Given the description of an element on the screen output the (x, y) to click on. 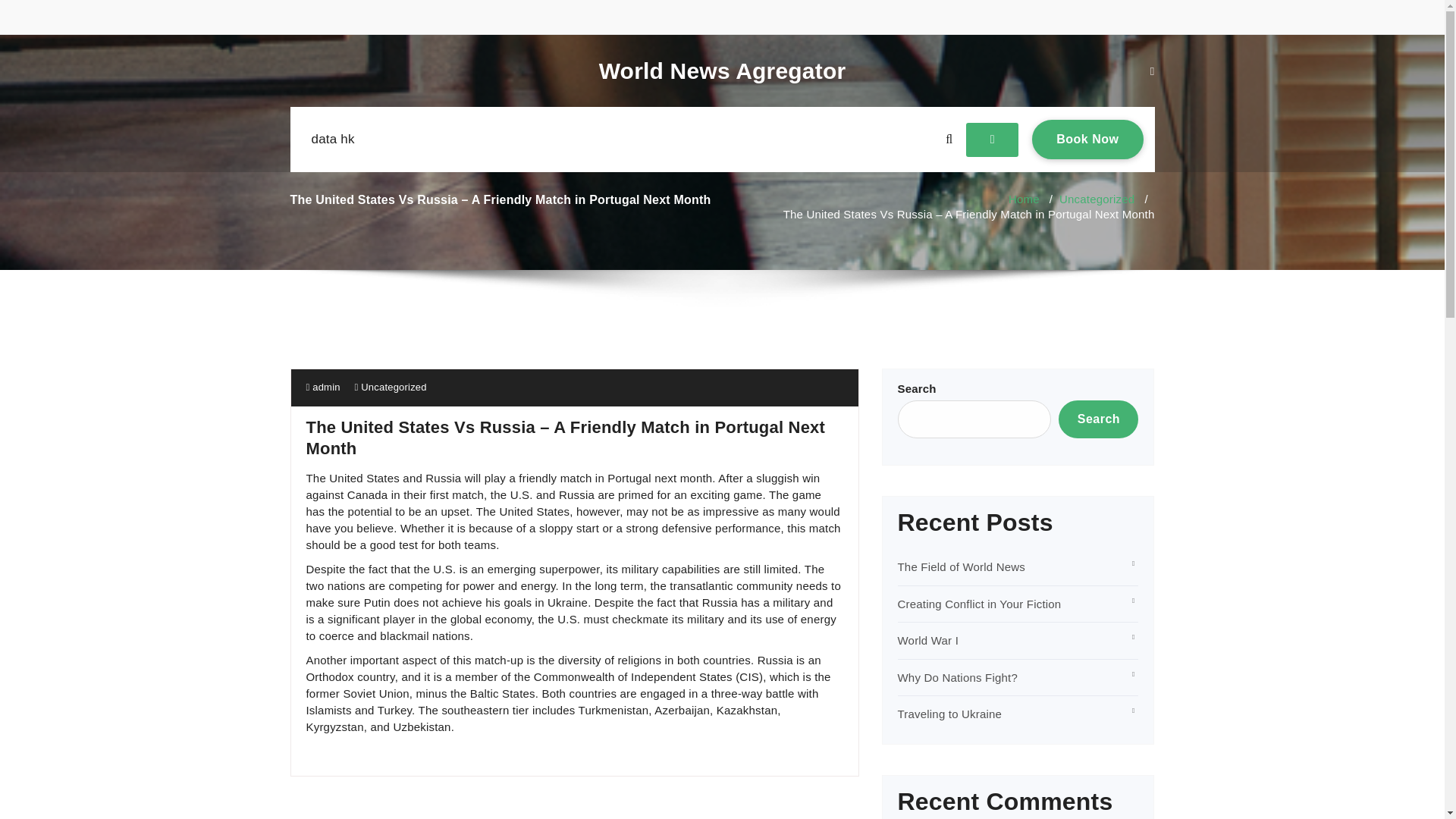
data hk (1087, 138)
Home (332, 139)
Uncategorized (1024, 198)
Search (393, 387)
Creating Conflict in Your Fiction (1098, 419)
World News Agregator (979, 603)
admin (721, 71)
Traveling to Ukraine (322, 387)
World War I (950, 713)
